Given the description of an element on the screen output the (x, y) to click on. 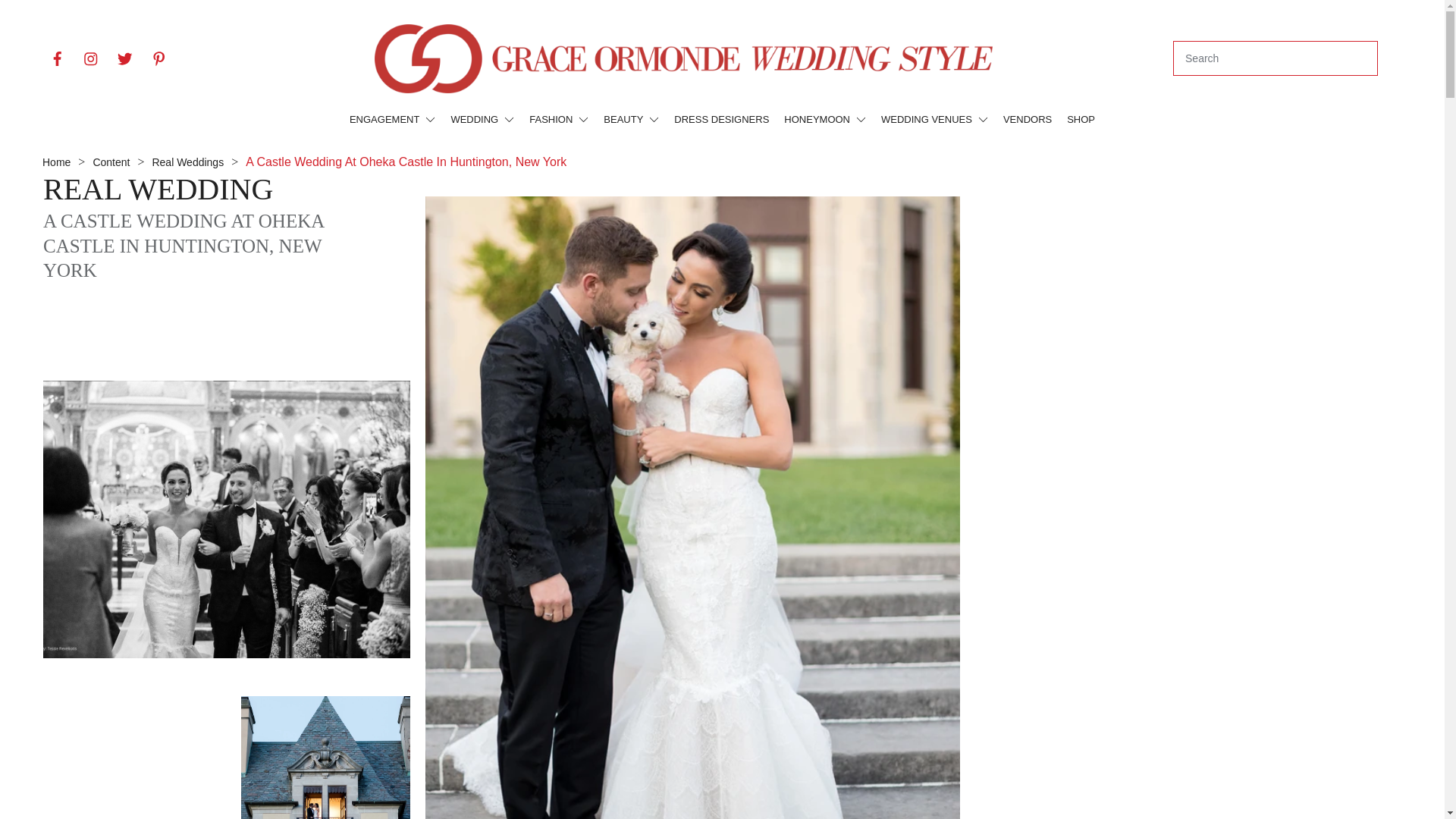
DRESS DESIGNERS (721, 119)
WEDDING (481, 119)
FASHION (558, 119)
HONEYMOON (825, 119)
A Castle Wedding at Oheka Castle in Huntington, New York (183, 245)
ENGAGEMENT (392, 119)
BEAUTY (631, 119)
WEDDING VENUES (934, 119)
